Given the description of an element on the screen output the (x, y) to click on. 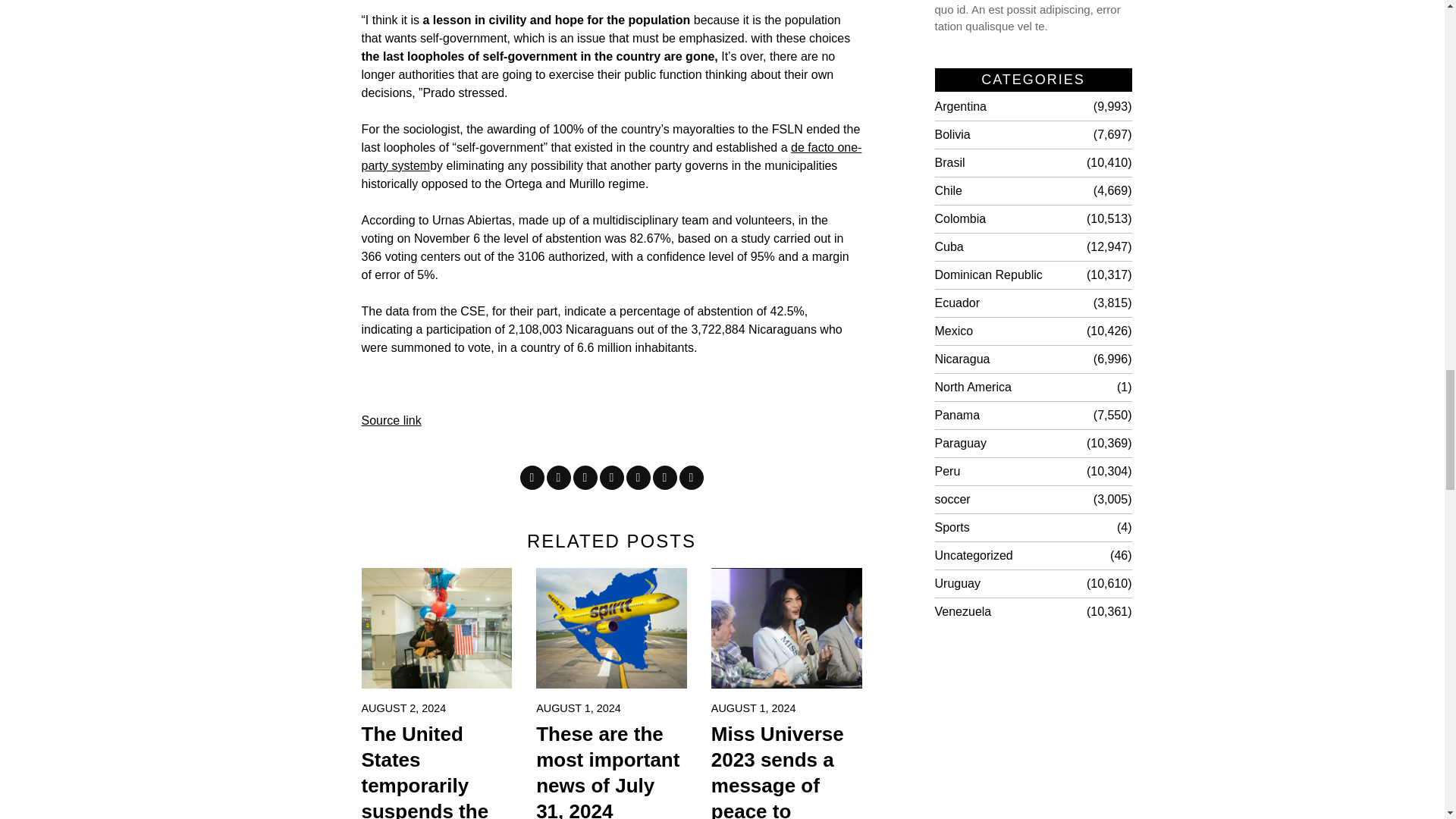
de facto one-party system (611, 155)
01 Aug, 2024 14:56:36 (578, 708)
02 Aug, 2024 18:57:06 (403, 708)
Source link (390, 420)
01 Aug, 2024 00:00:20 (753, 708)
